Given the description of an element on the screen output the (x, y) to click on. 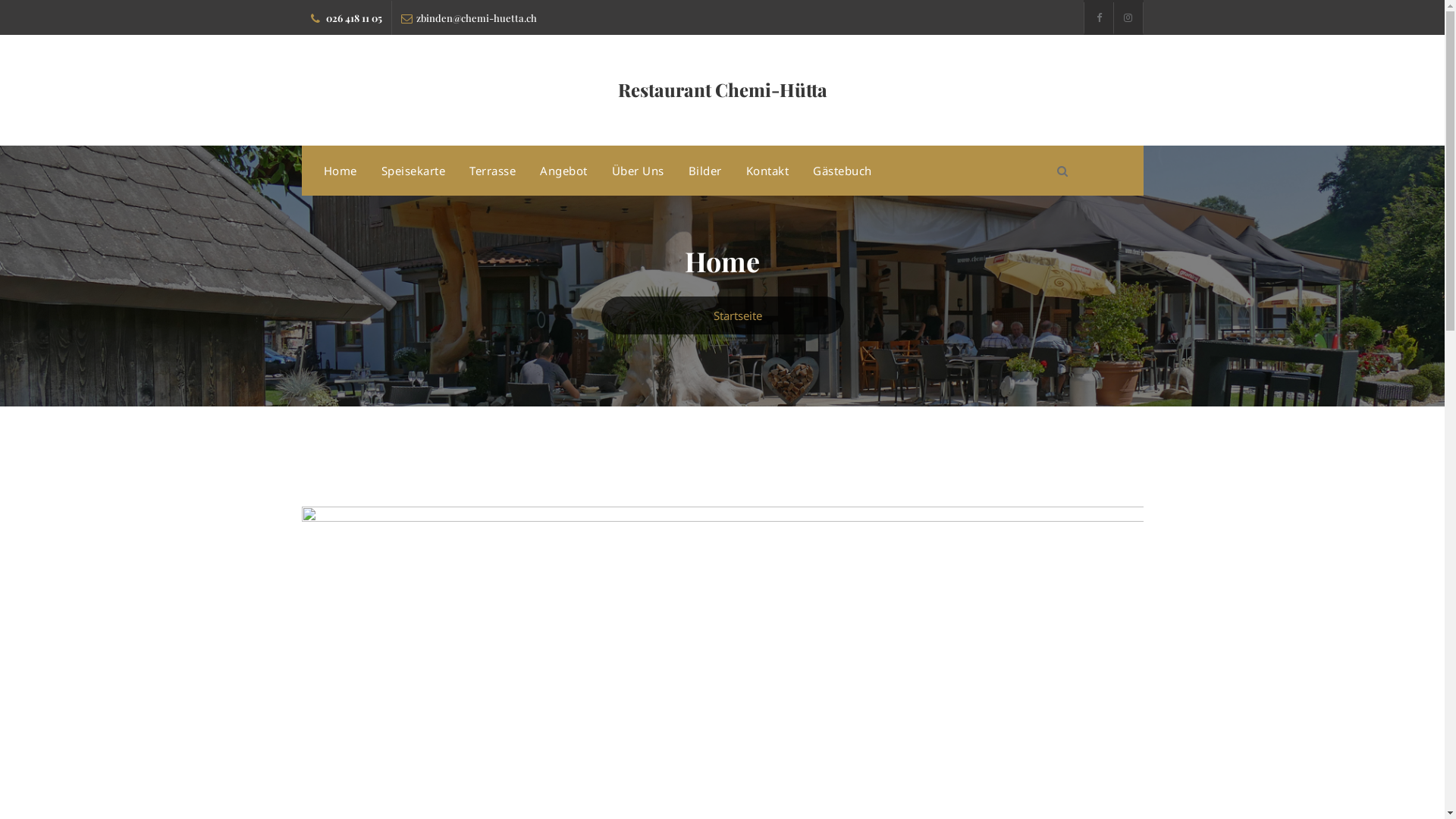
Terrasse Element type: text (492, 170)
Speisekarte Element type: text (412, 170)
Bilder Element type: text (704, 170)
Startseite Element type: text (736, 315)
Kontakt Element type: text (767, 170)
Angebot Element type: text (563, 170)
Home Element type: text (339, 170)
